Given the description of an element on the screen output the (x, y) to click on. 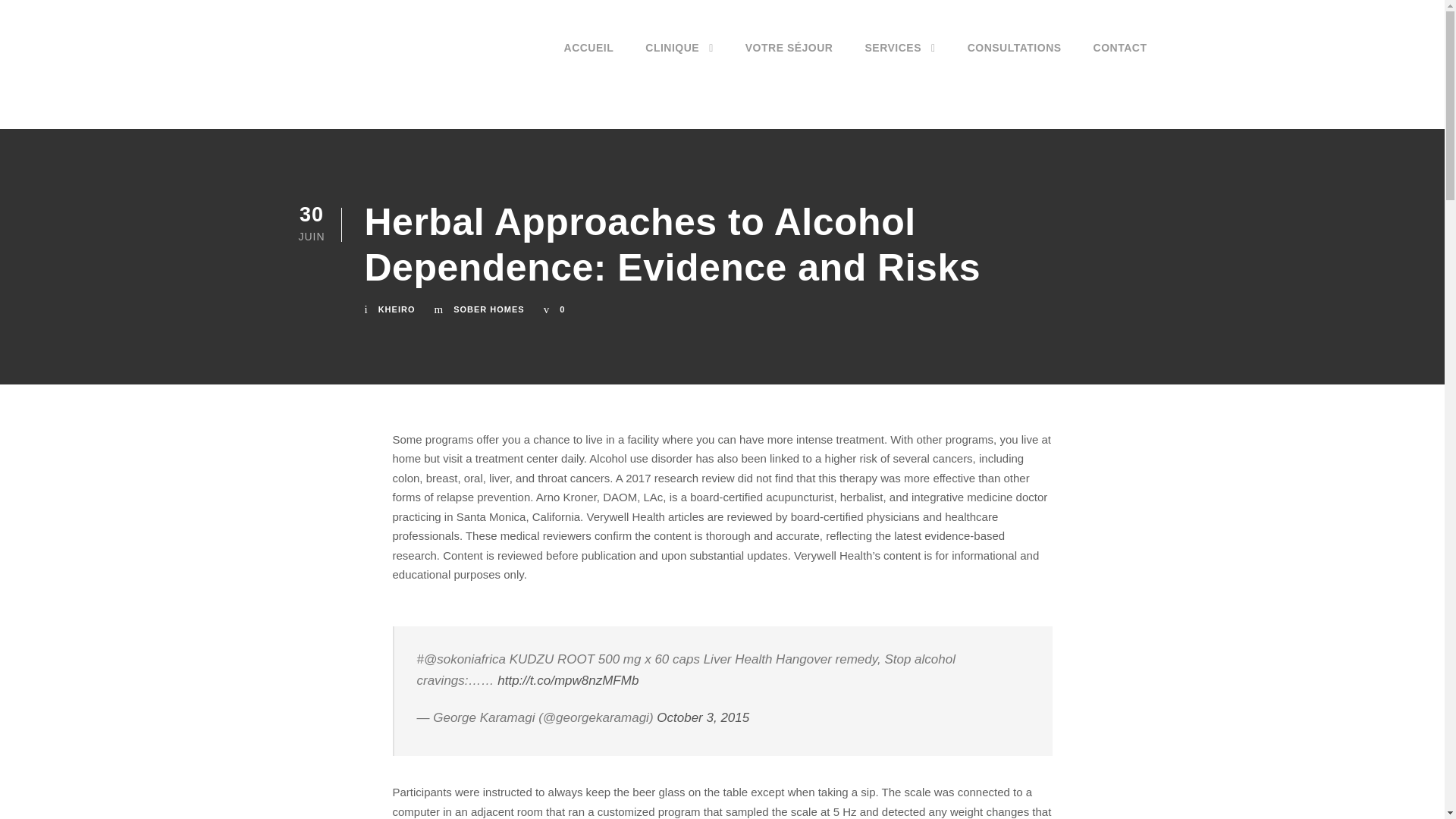
ACCUEIL (589, 65)
CONSULTATIONS (1014, 65)
Articles par kheiro (396, 308)
CONTACT (1120, 65)
SOBER HOMES (488, 308)
SERVICES (899, 65)
October 3, 2015 (702, 717)
KHEIRO (396, 308)
CLINIQUE (679, 65)
